Given the description of an element on the screen output the (x, y) to click on. 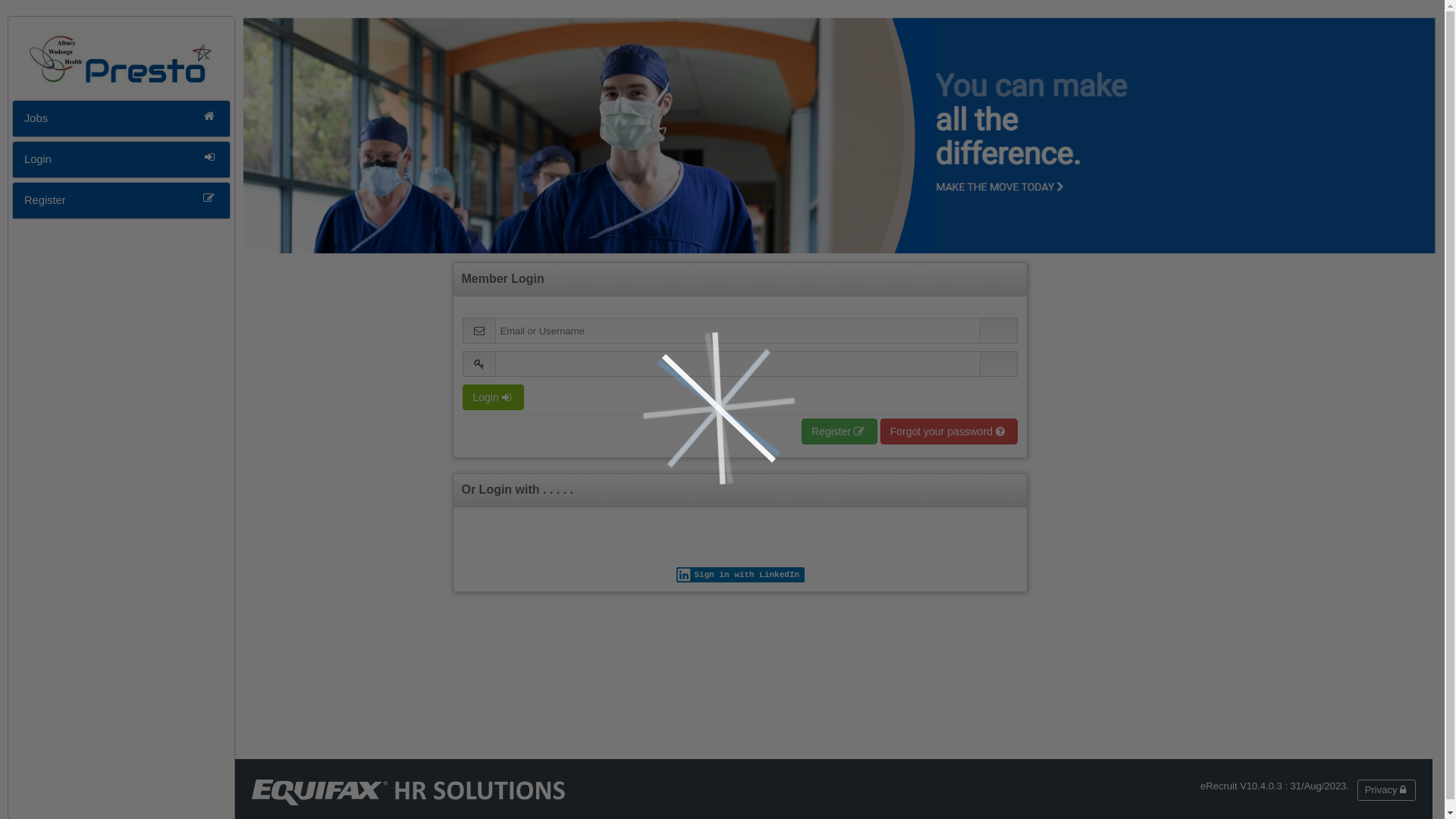
LinkedIn Embedded Content Element type: hover (740, 574)
Forgot your password Element type: text (948, 431)
Login Element type: text (492, 397)
Register Element type: text (839, 431)
Employer of Choice Element type: hover (839, 135)
Login Element type: text (121, 159)
FaceBook Button Element type: text (6, 9)
Jobs Element type: text (121, 118)
Privacy Element type: text (1386, 789)
Register Element type: text (121, 200)
